Given the description of an element on the screen output the (x, y) to click on. 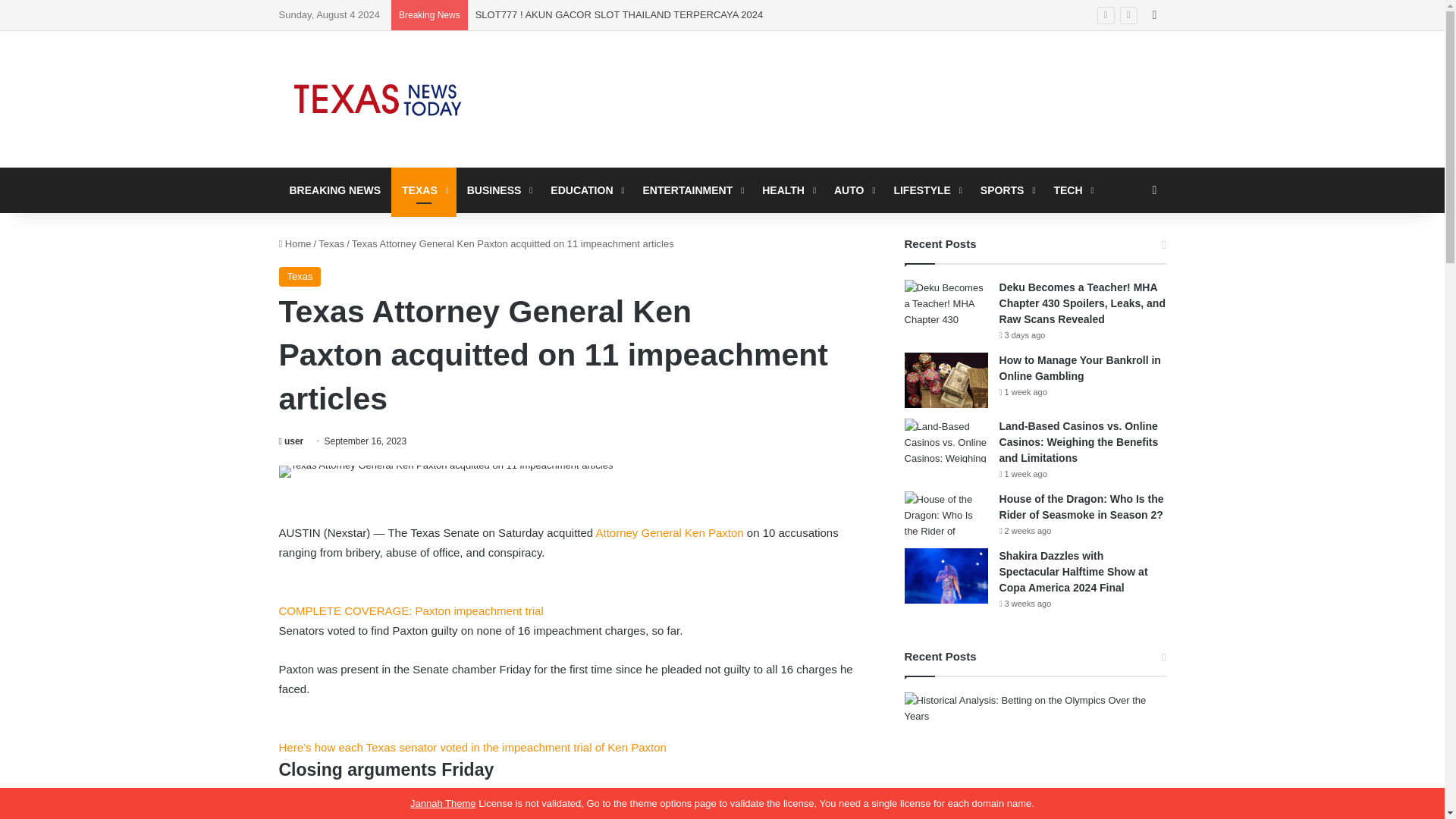
Jannah Theme (443, 803)
BUSINESS (498, 189)
TEXAS (424, 189)
AUTO (853, 189)
EDUCATION (585, 189)
user (291, 440)
SPORTS (1006, 189)
Home (295, 243)
Texas (330, 243)
LIFESTYLE (925, 189)
